Given the description of an element on the screen output the (x, y) to click on. 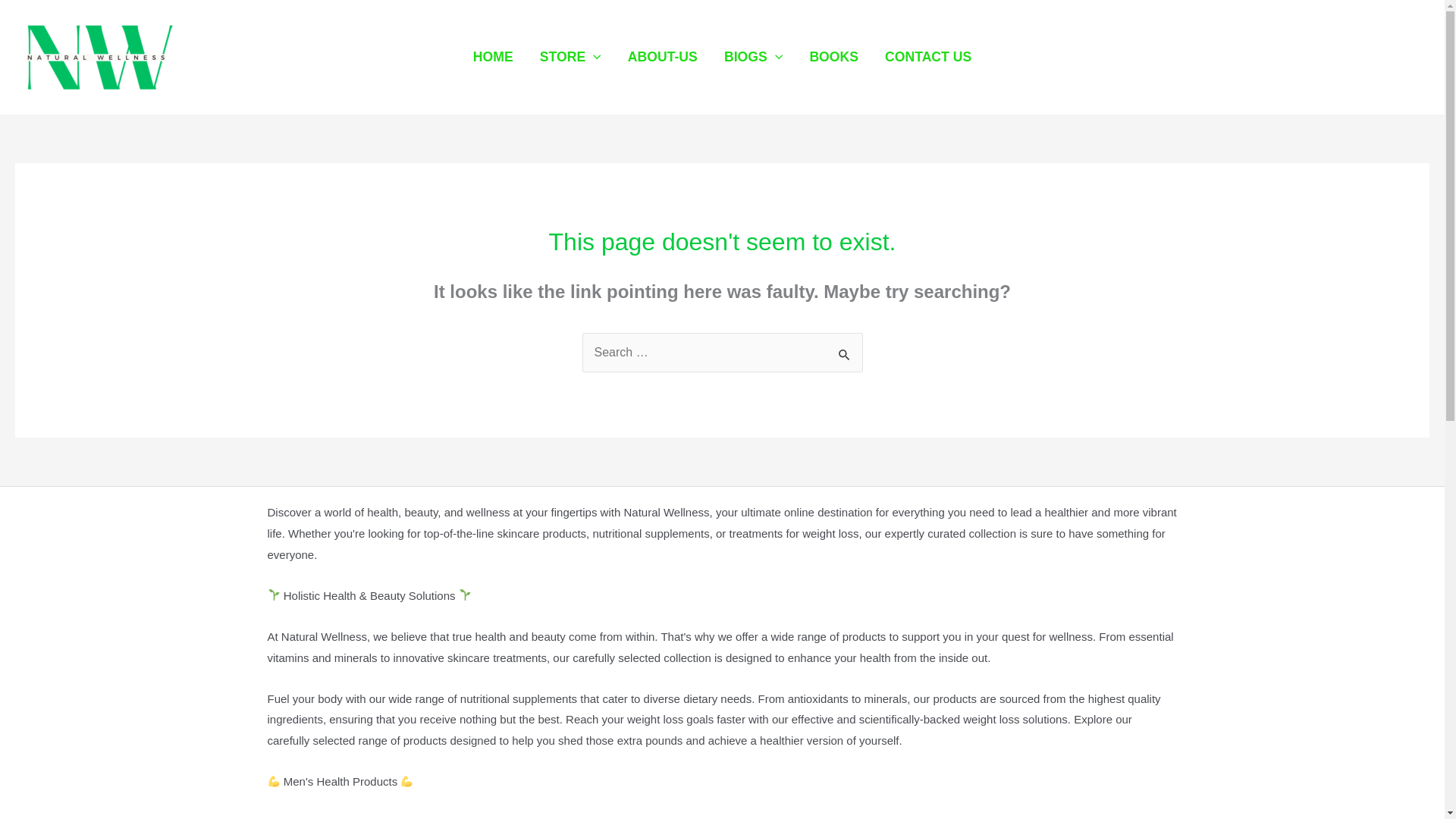
HOME (492, 56)
CONTACT US (928, 56)
BIOGS (752, 56)
STORE (569, 56)
BOOKS (834, 56)
ABOUT-US (662, 56)
